Given the description of an element on the screen output the (x, y) to click on. 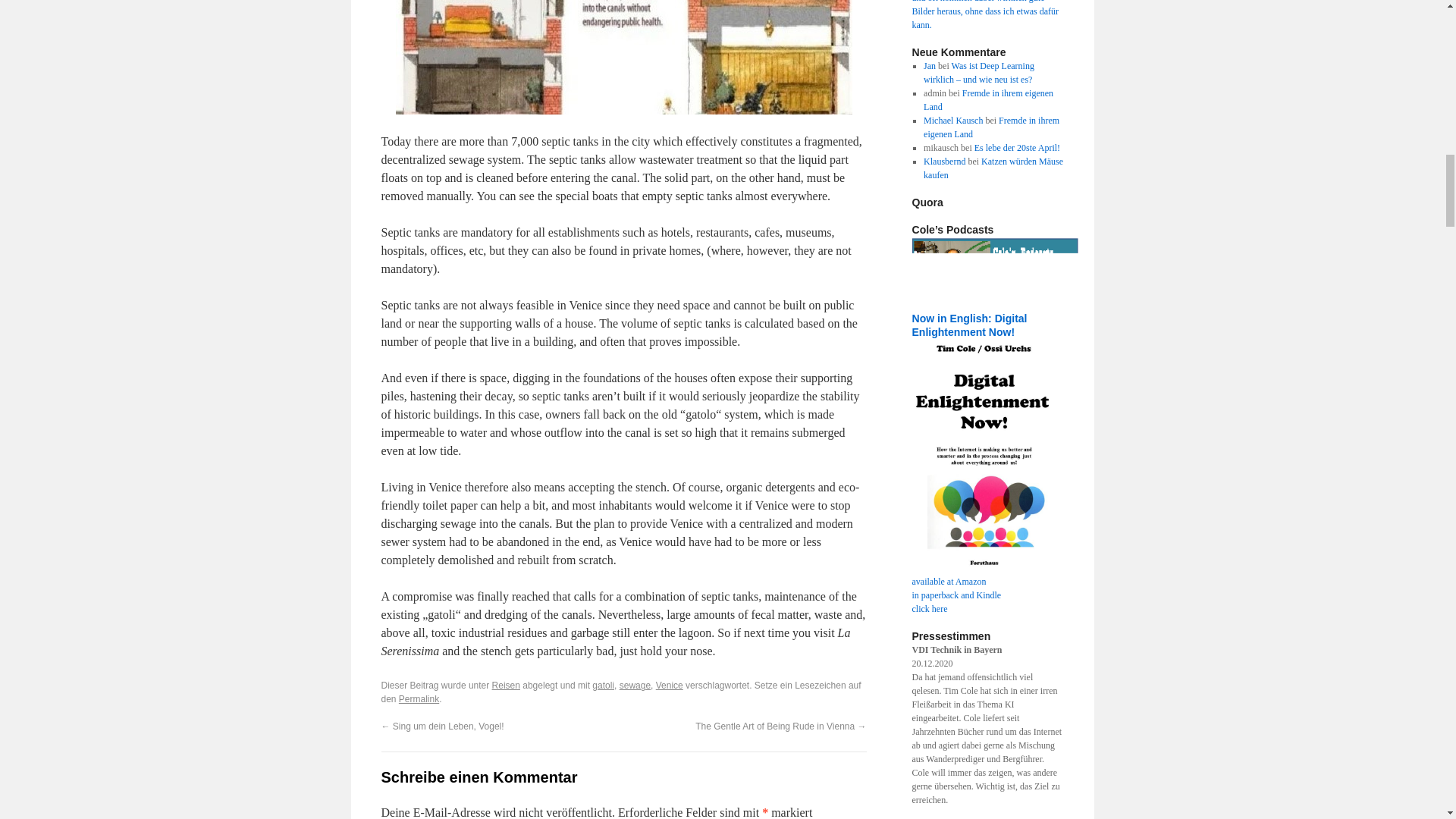
Reisen (505, 685)
Venice (669, 685)
gatoli (603, 685)
Jan (929, 122)
Permalink zu Smelly Serenissima (418, 698)
Permalink (418, 698)
sewage (635, 685)
